Given the description of an element on the screen output the (x, y) to click on. 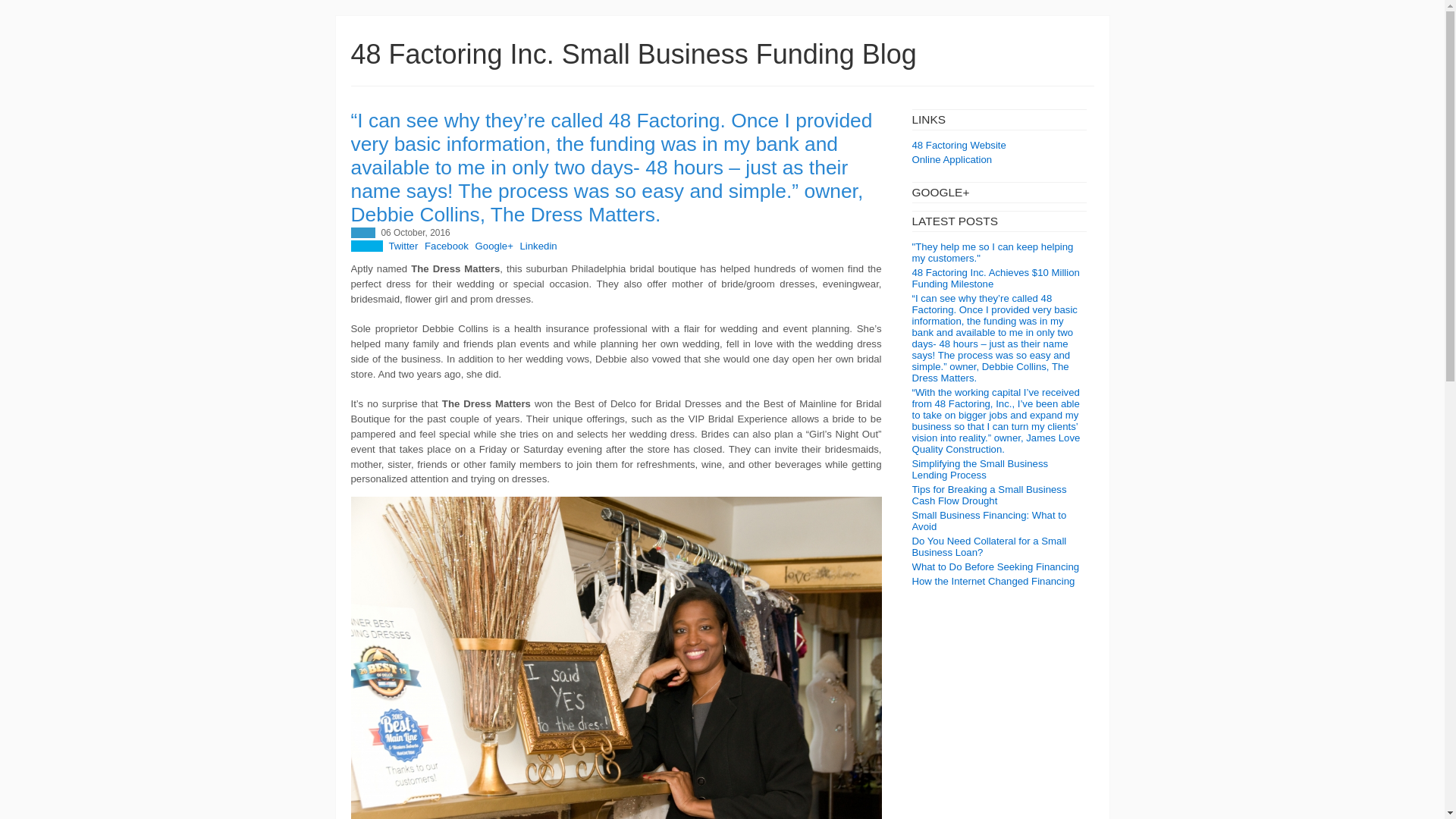
Simplifying the Small Business Lending Process (979, 468)
Online Application (951, 159)
Tips for Breaking a Small Business Cash Flow Drought (988, 495)
48 Factoring Inc. Small Business Funding Blog (632, 53)
How the Internet Changed Financing (992, 581)
Twitter (402, 245)
Linkedin (538, 245)
Do You Need Collateral for a Small Business Loan? (988, 546)
What to Do Before Seeking Financing (994, 566)
Facebook (446, 245)
